Given the description of an element on the screen output the (x, y) to click on. 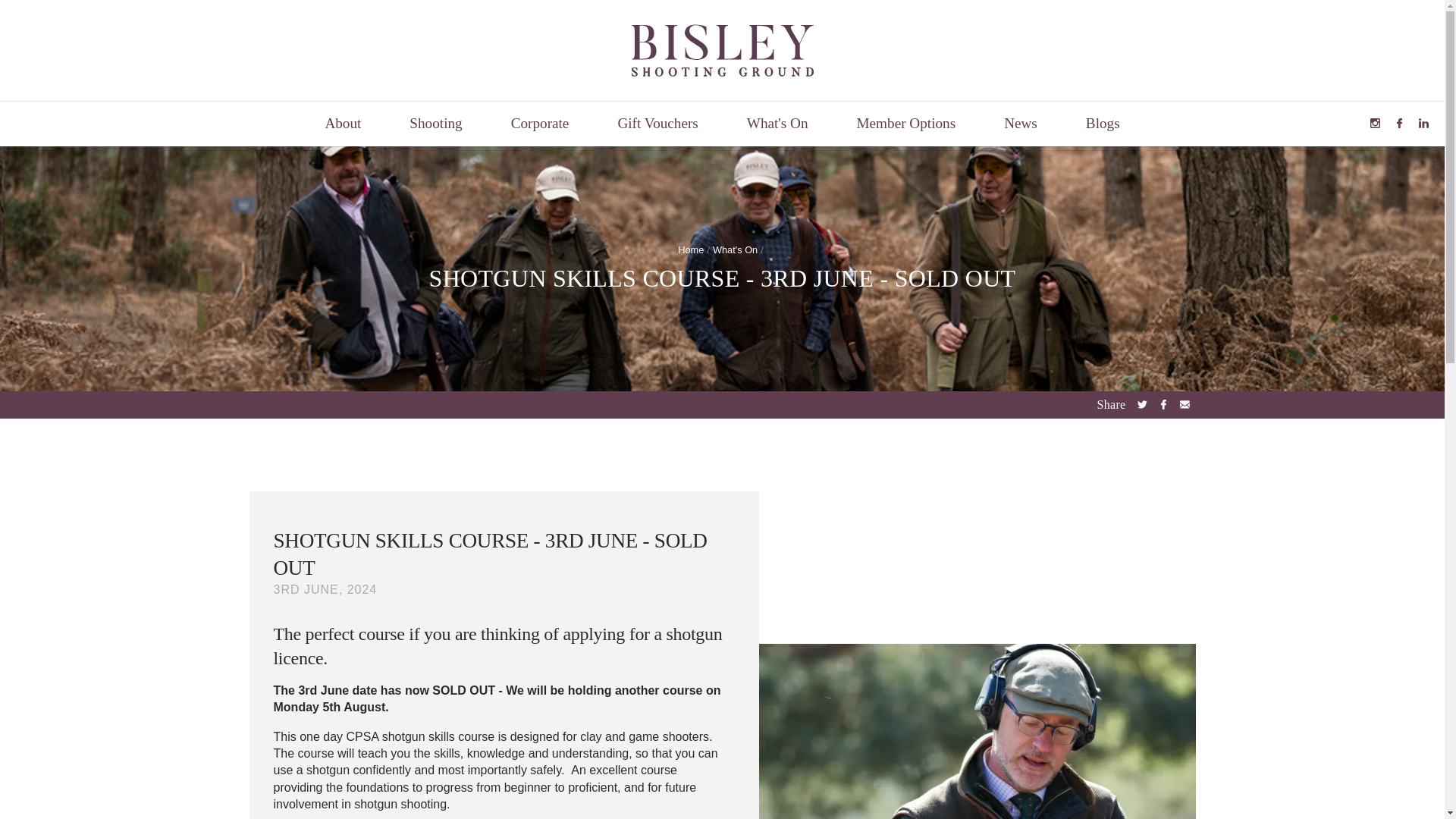
Gift Vouchers (657, 123)
Email to a friend (1184, 404)
Shooting (435, 123)
What's On (777, 123)
Member Options (905, 123)
Connect with us on LinkedIn (1422, 123)
About (342, 123)
Follow us on Facebook (1398, 123)
Corporate (540, 123)
Follow us on Instagram (1374, 123)
News (1020, 123)
Share on Facebook (1163, 404)
Share on Twitter (1142, 404)
Blogs (1102, 123)
